Given the description of an element on the screen output the (x, y) to click on. 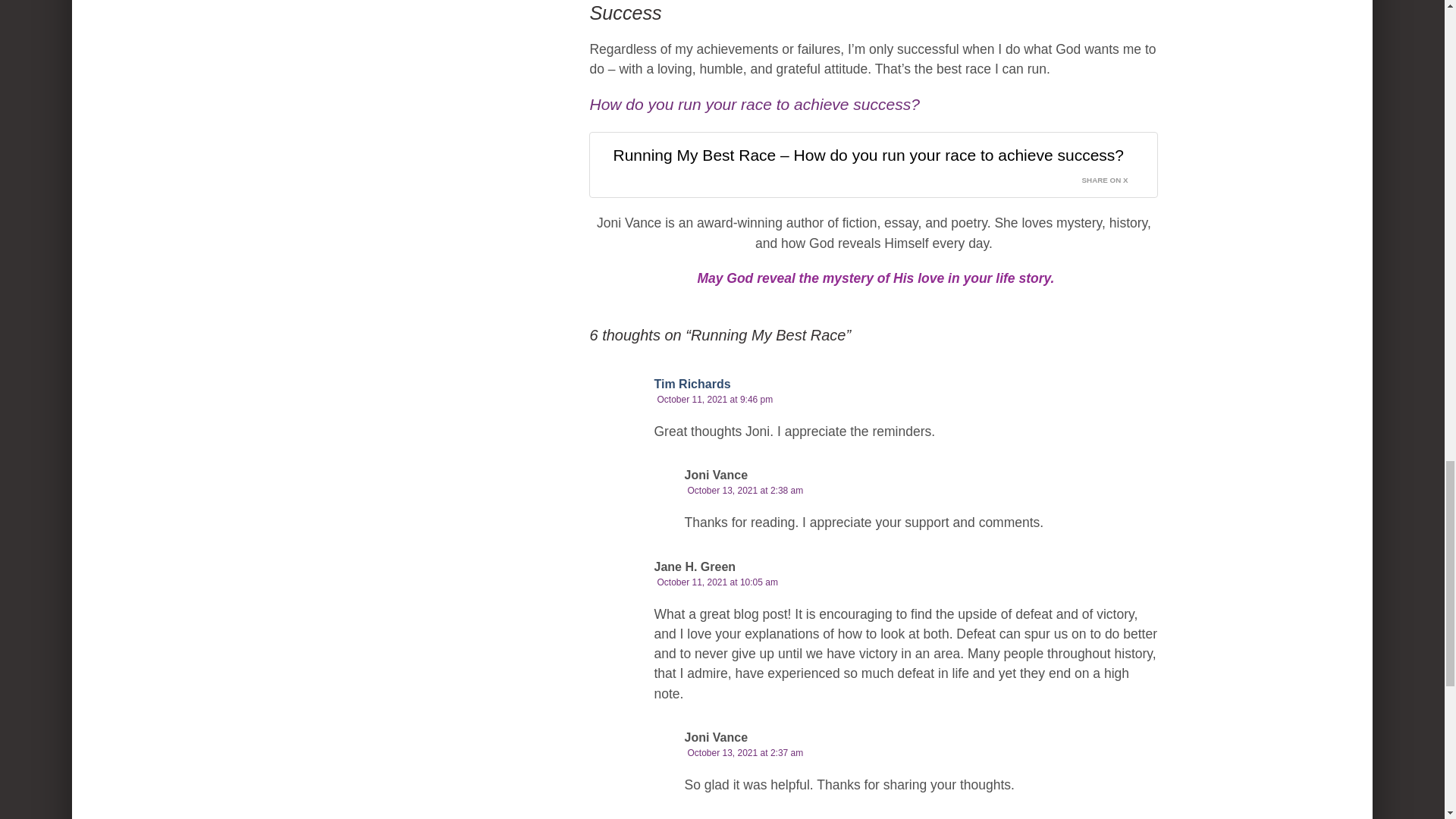
Tim Richards (691, 383)
October 13, 2021 at 2:38 am (745, 490)
October 11, 2021 at 10:05 am (716, 582)
October 13, 2021 at 2:37 am (745, 752)
SHARE ON X (1114, 176)
October 11, 2021 at 9:46 pm (714, 398)
